Given the description of an element on the screen output the (x, y) to click on. 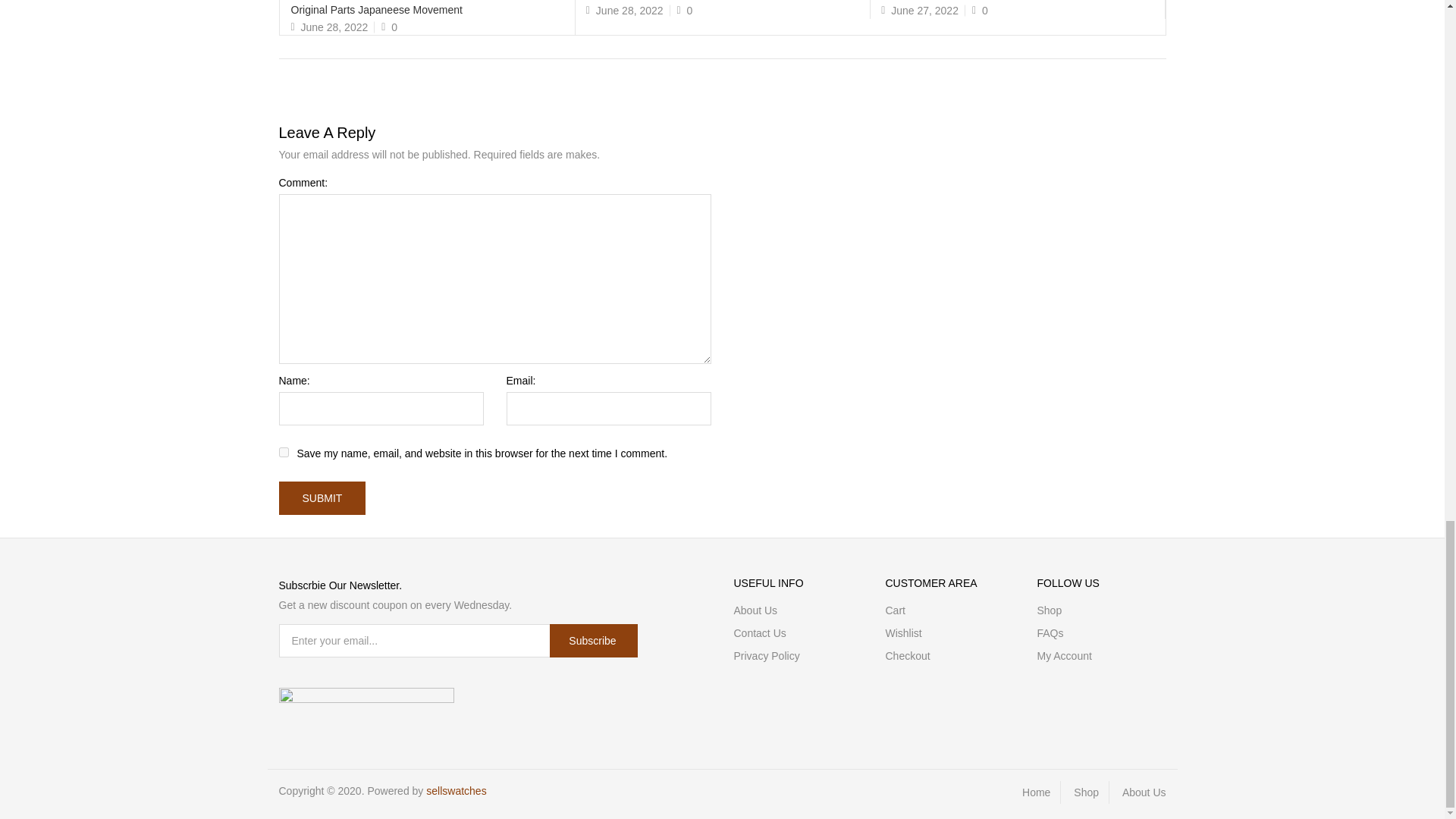
submit (322, 498)
yes (283, 452)
subscribe (593, 640)
payments (366, 696)
